Given the description of an element on the screen output the (x, y) to click on. 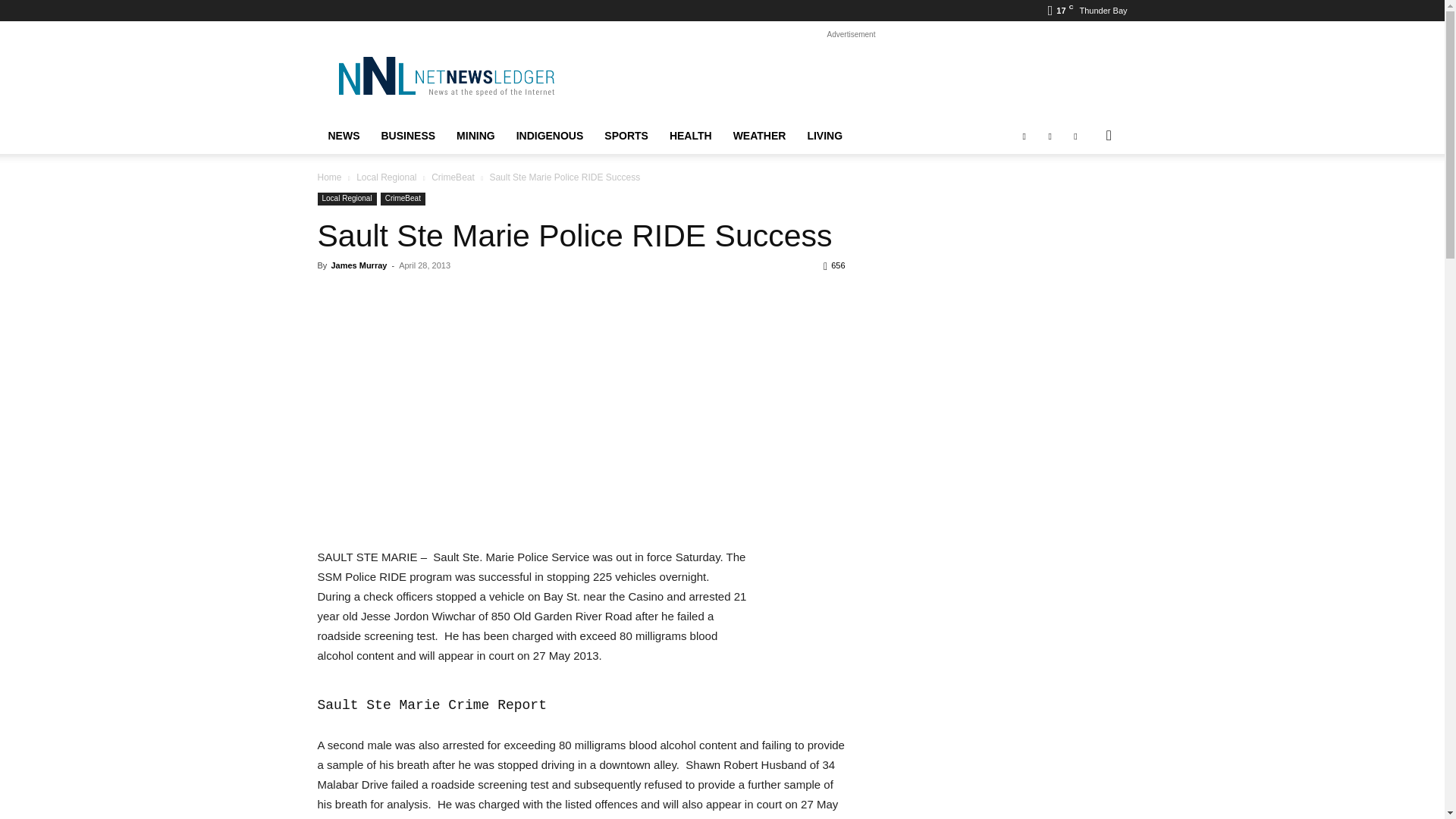
View all posts in CrimeBeat (452, 176)
NetNewsLedger (445, 76)
View all posts in Local Regional (386, 176)
